Given the description of an element on the screen output the (x, y) to click on. 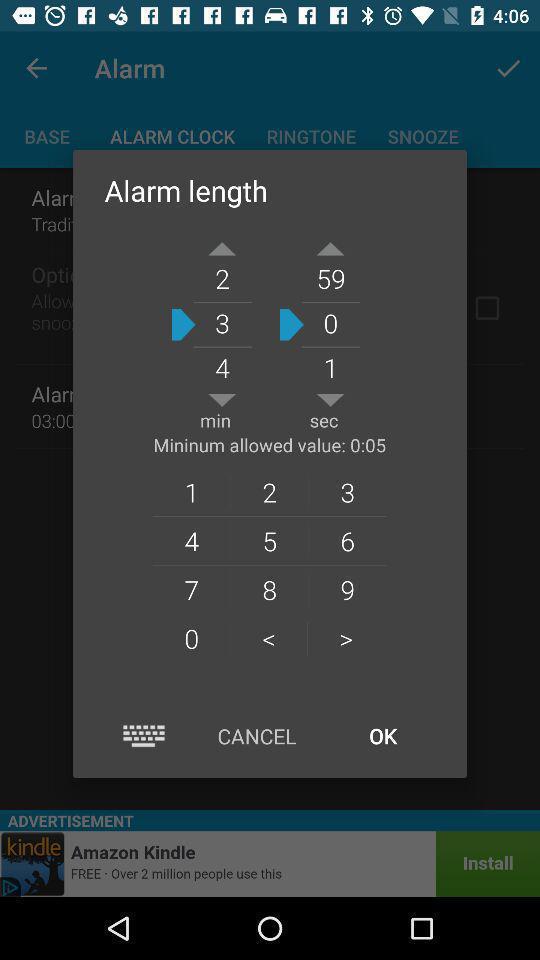
open the keyboard (143, 735)
